Given the description of an element on the screen output the (x, y) to click on. 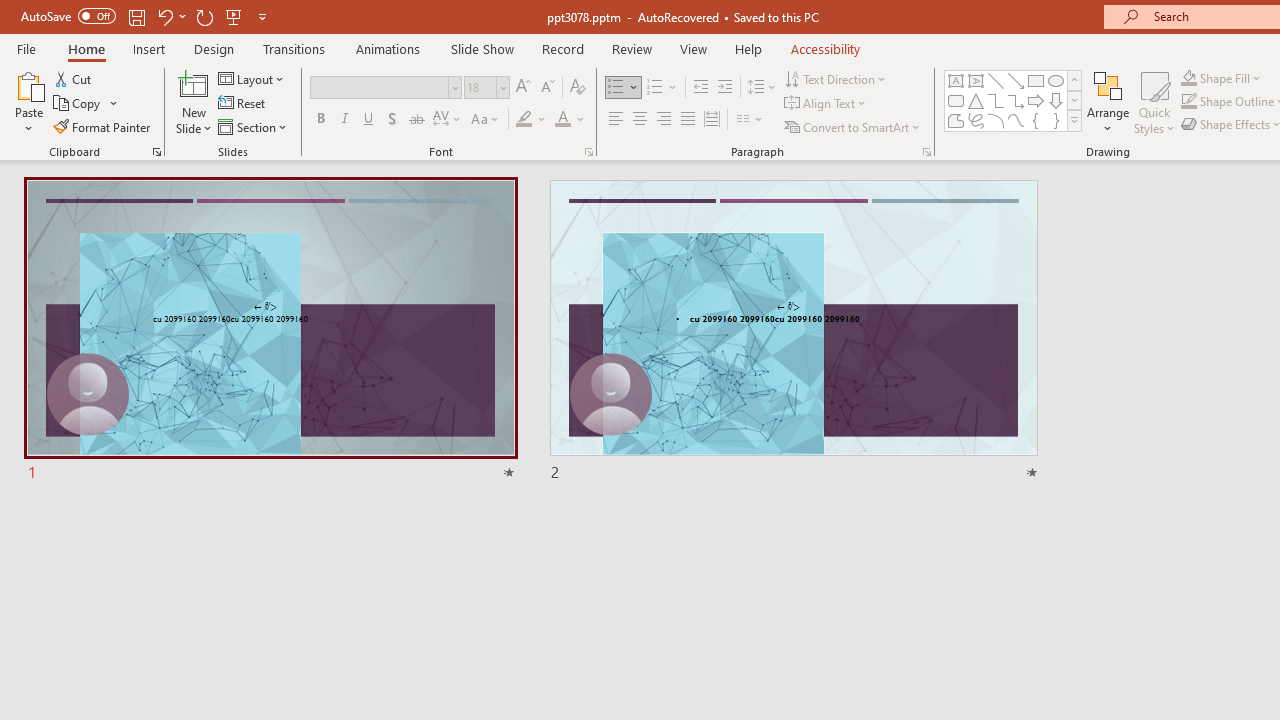
Shape Fill Dark Green, Accent 2 (1188, 78)
